Given the description of an element on the screen output the (x, y) to click on. 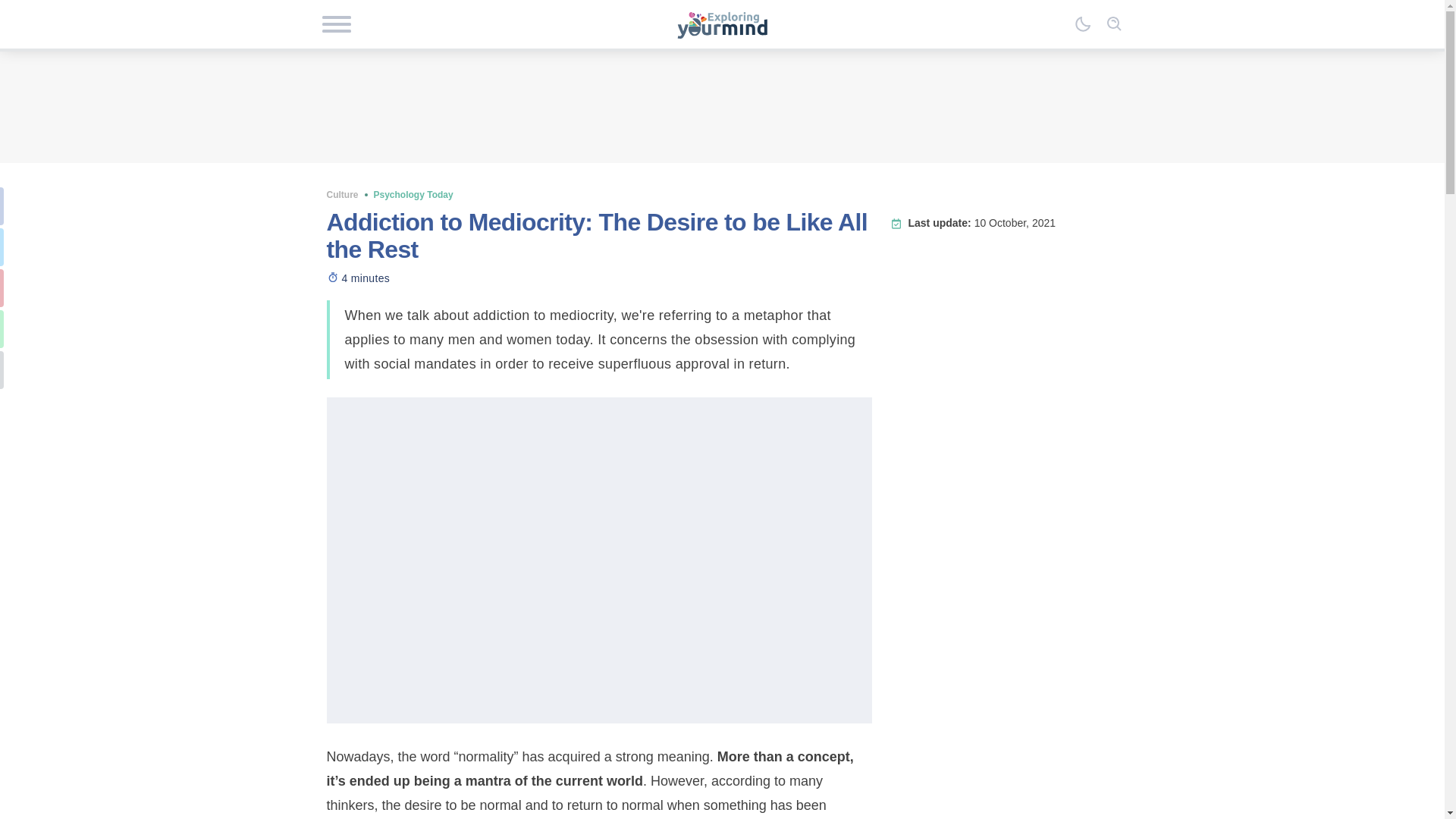
Culture (342, 193)
Psychology Today (412, 193)
Psychology Today (412, 193)
Culture (342, 193)
